Given the description of an element on the screen output the (x, y) to click on. 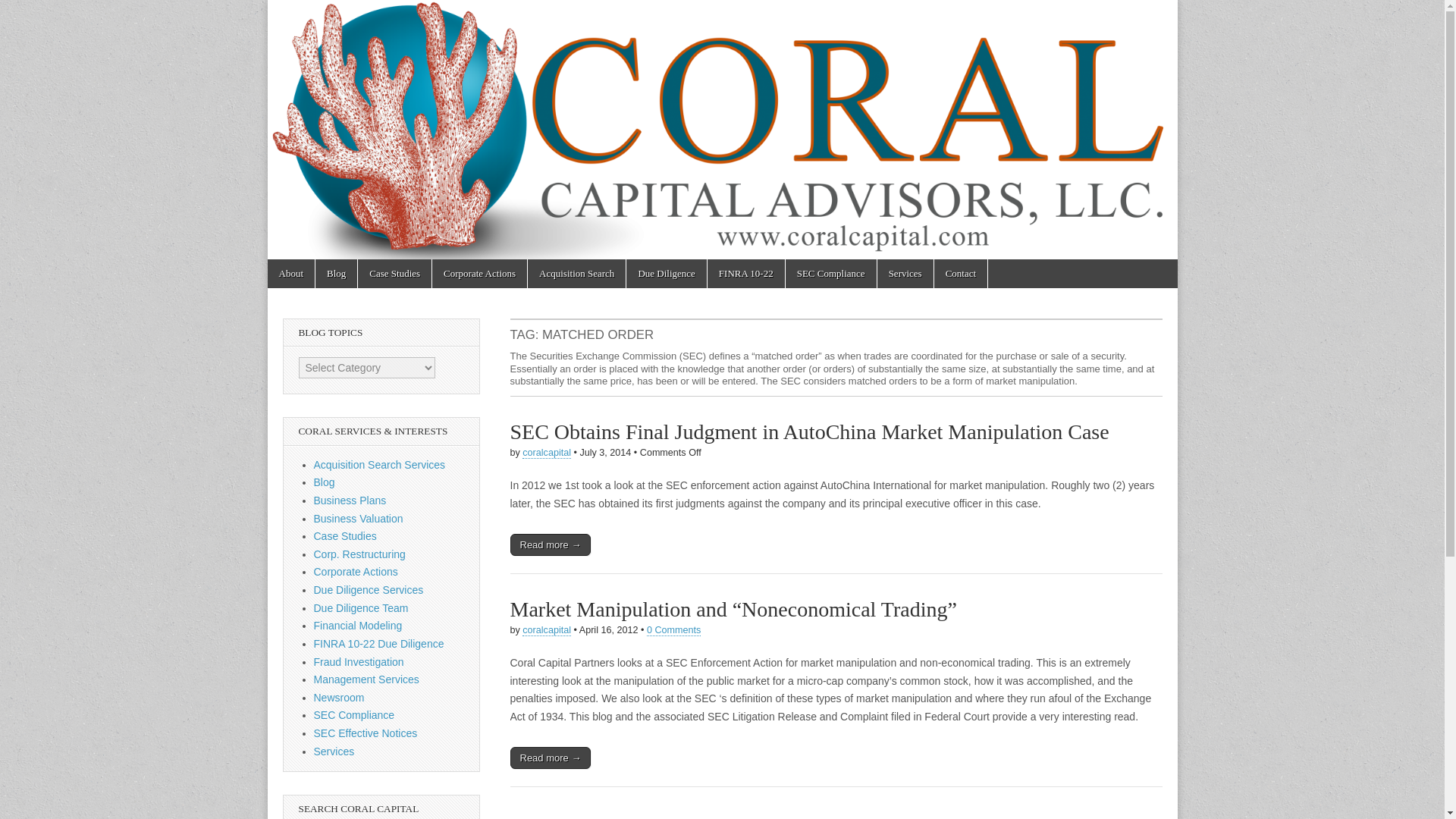
Case Studies (394, 273)
Services (905, 273)
SEC Compliance (354, 715)
Services (334, 751)
About (290, 273)
Management Services (366, 679)
Due Diligence (666, 273)
0 Comments (673, 630)
coralcapital (546, 452)
